Given the description of an element on the screen output the (x, y) to click on. 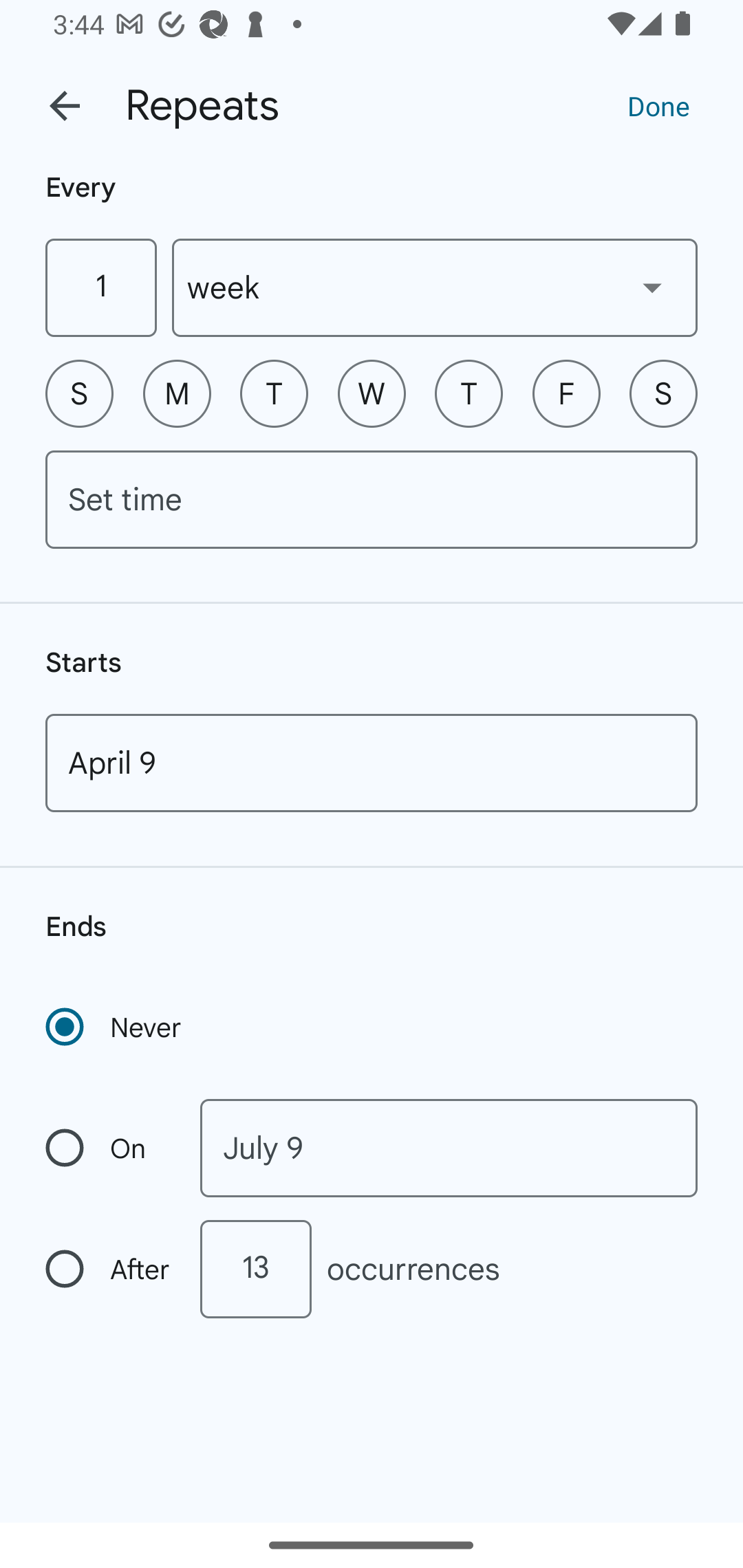
Back (64, 105)
Done (658, 105)
1 (100, 287)
week (434, 287)
Show dropdown menu (652, 286)
S Sunday (79, 393)
M Monday (177, 393)
T Tuesday (273, 393)
W Wednesday (371, 393)
T Thursday (468, 393)
F Friday (566, 393)
S Saturday (663, 393)
Set time (371, 499)
April 9 (371, 762)
Never Recurrence never ends (115, 1026)
July 9 (448, 1148)
On Recurrence ends on a specific date (109, 1148)
13 (255, 1268)
